Given the description of an element on the screen output the (x, y) to click on. 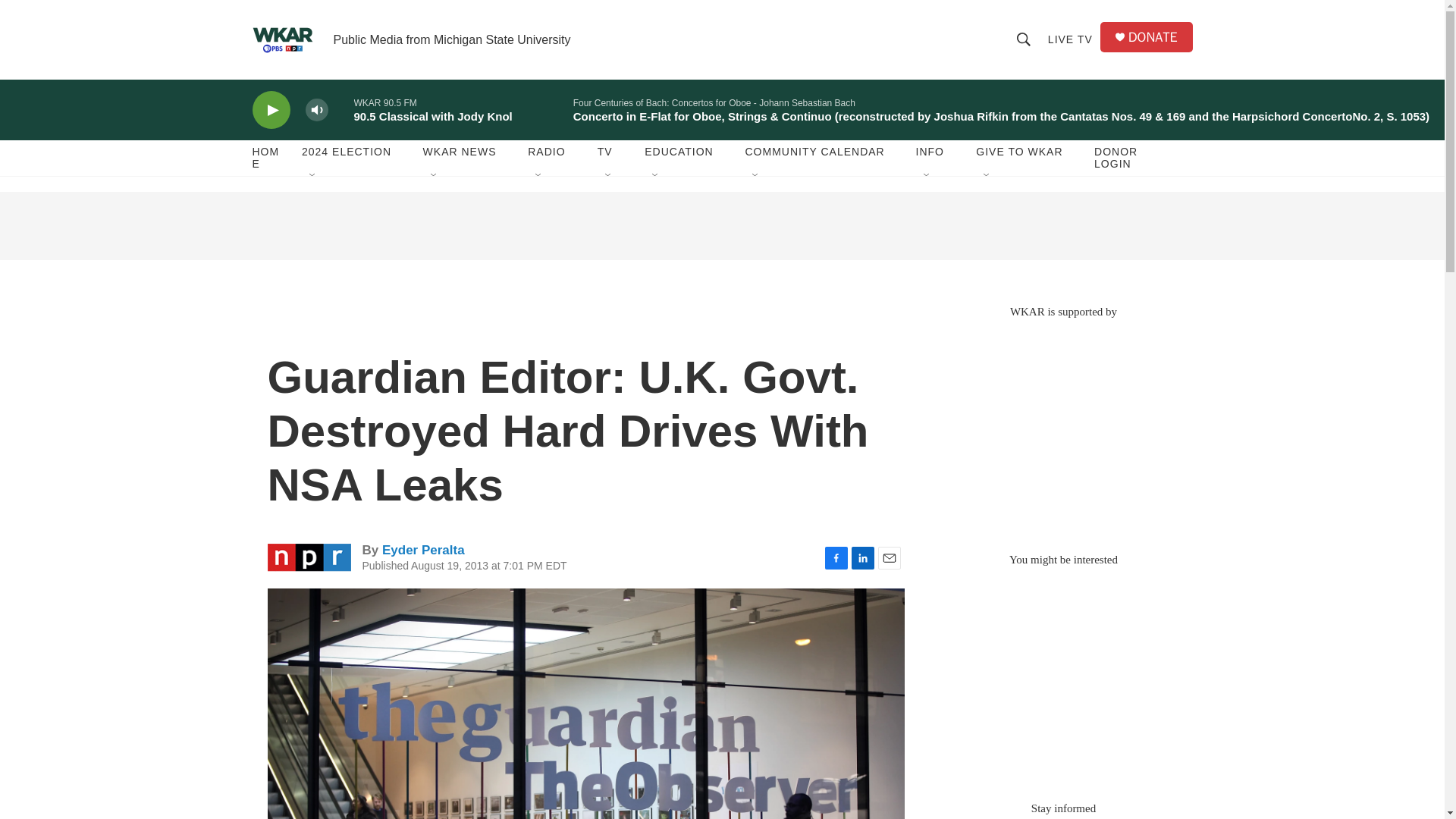
3rd party ad content (1062, 428)
3rd party ad content (721, 225)
3rd party ad content (1062, 677)
